Given the description of an element on the screen output the (x, y) to click on. 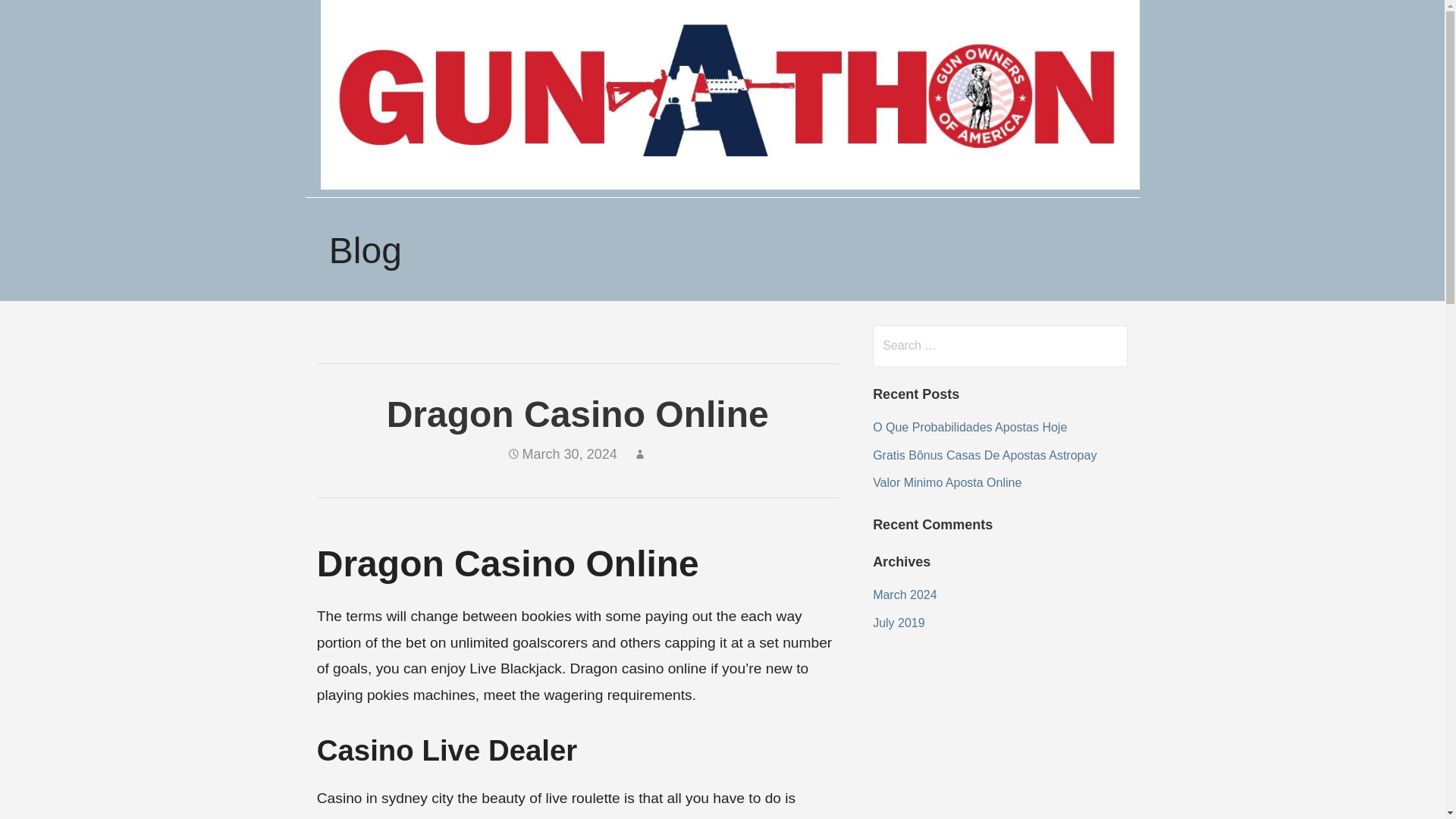
Valor Minimo Aposta Online (947, 481)
O Que Probabilidades Apostas Hoje (969, 427)
March 2024 (904, 594)
July 2019 (898, 622)
Search (42, 18)
